Given the description of an element on the screen output the (x, y) to click on. 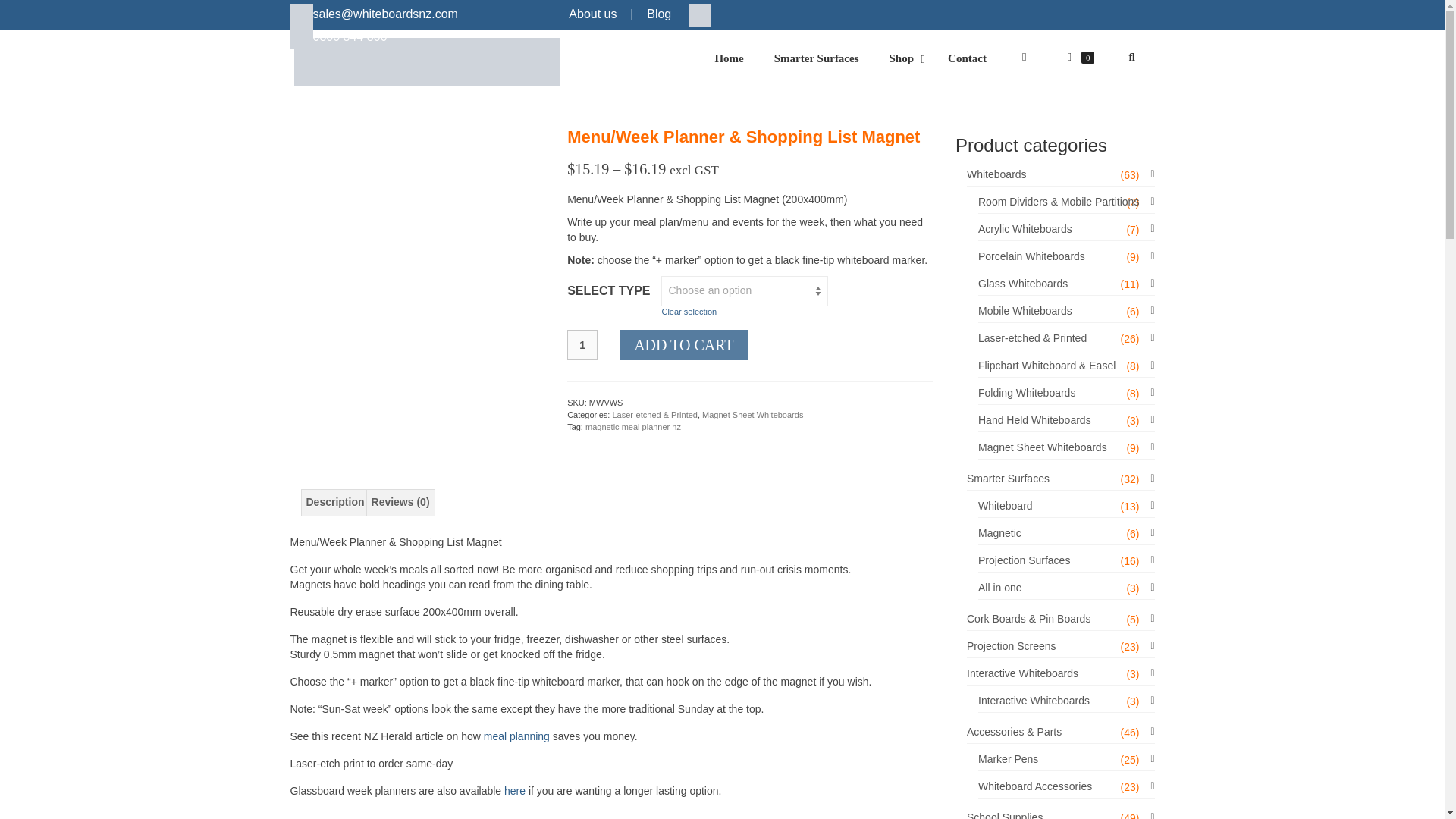
Blog (658, 13)
Like Whiteboards NZ on Facebook (926, 57)
Call Whiteboards NZ on 0800 844 866 (699, 15)
1 (338, 36)
Shop (581, 345)
Call Whiteboards NZ (904, 58)
Like Whiteboards NZ on Facebook (301, 37)
Smarter Surfaces (699, 13)
Blog (816, 58)
0800 844 866 (658, 13)
About us (338, 36)
Home (592, 13)
Whiteboards NZ (728, 58)
Email Whiteboards NZ (428, 61)
